Given the description of an element on the screen output the (x, y) to click on. 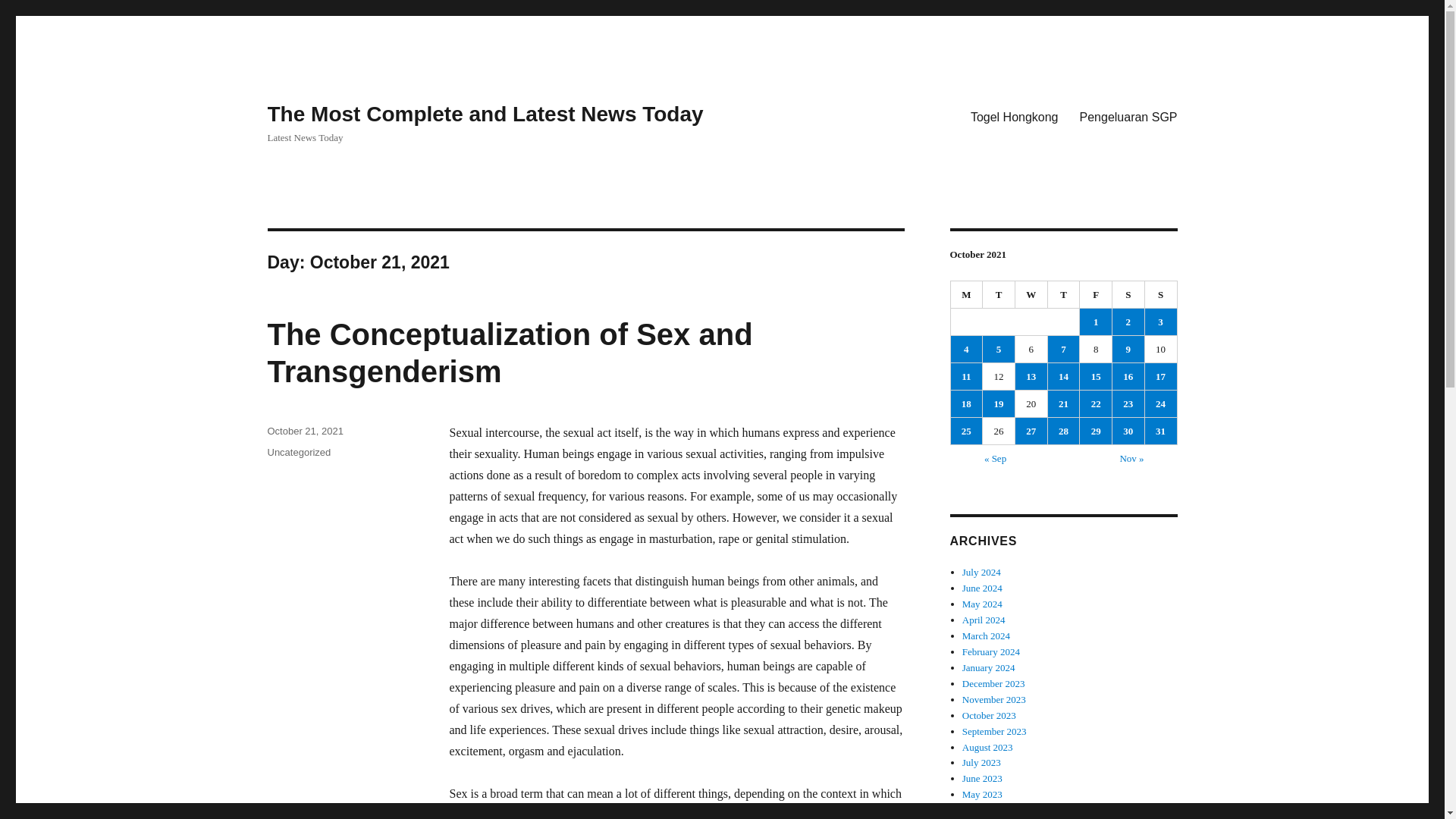
Uncategorized (298, 451)
15 (1096, 376)
The Conceptualization of Sex and Transgenderism (509, 352)
October 21, 2021 (304, 430)
Sunday (1160, 294)
17 (1160, 376)
3 (1160, 321)
Tuesday (998, 294)
Saturday (1128, 294)
9 (1128, 348)
11 (966, 376)
2 (1128, 321)
1 (1096, 321)
16 (1128, 376)
7 (1064, 348)
